Given the description of an element on the screen output the (x, y) to click on. 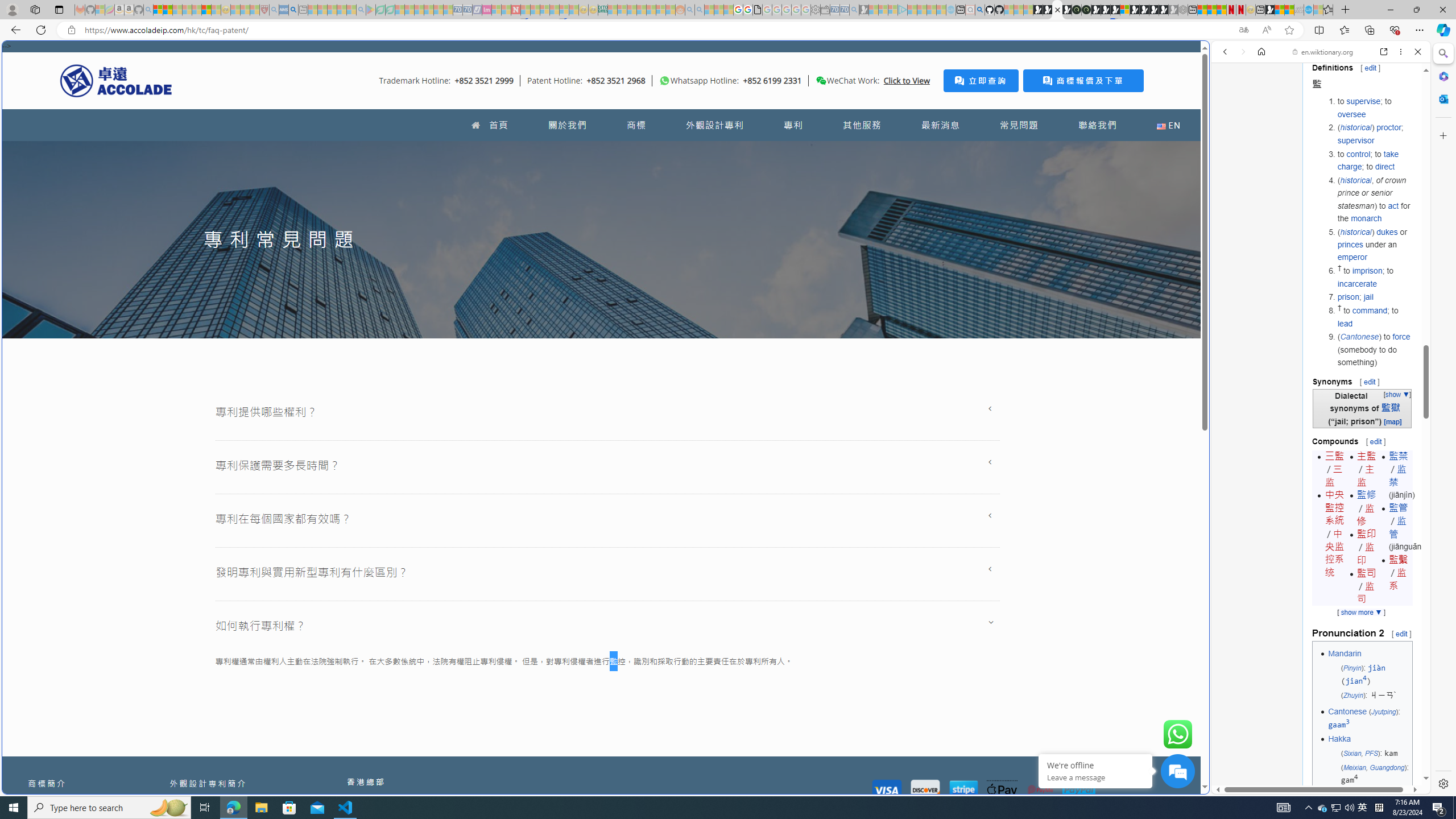
supervisor (1355, 139)
oversee (1350, 113)
en.wiktionary.org (1323, 51)
